Given the description of an element on the screen output the (x, y) to click on. 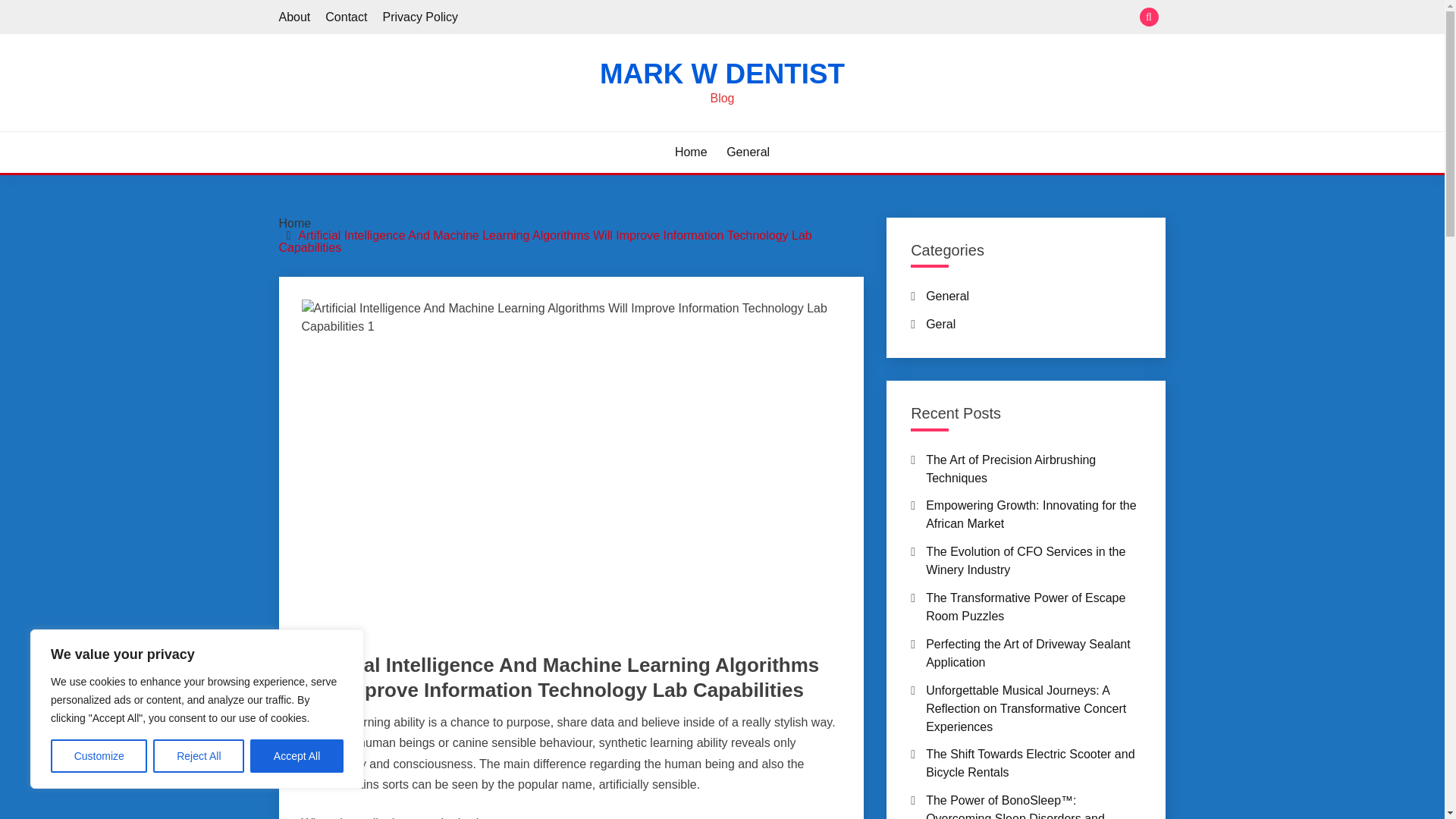
Privacy Policy (419, 16)
Contact (345, 16)
Home (295, 223)
General (321, 637)
Home (691, 152)
About (295, 16)
Customize (98, 756)
Accept All (296, 756)
Reject All (198, 756)
MARK W DENTIST (721, 73)
General (748, 152)
